Given the description of an element on the screen output the (x, y) to click on. 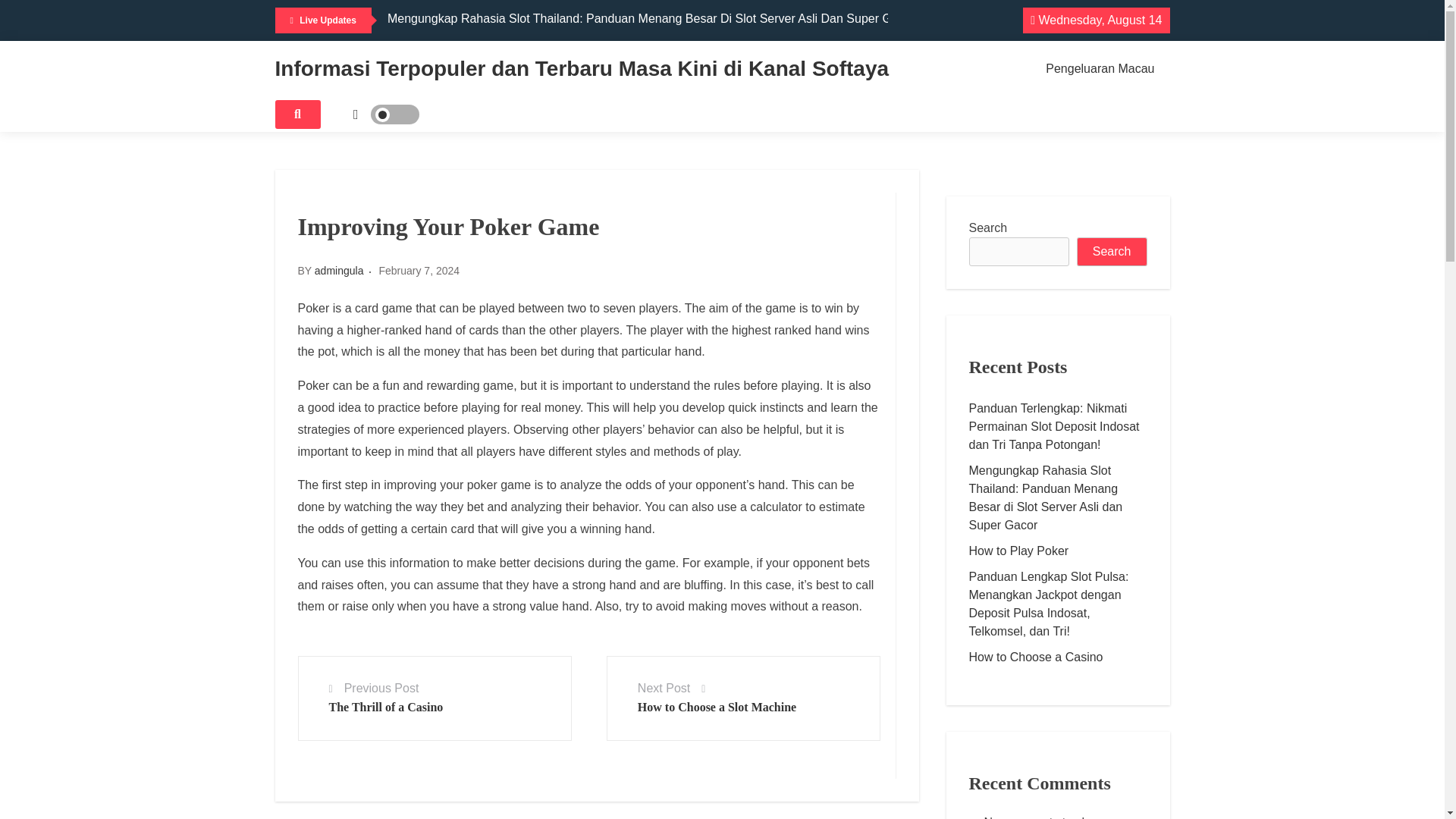
How To Play Poker (438, 39)
February 7, 2024 (419, 270)
Pengeluaran Macau (1099, 68)
How to Choose a Slot Machine (716, 707)
admingula (339, 270)
The Thrill of a Casino (386, 707)
Previous Post (381, 687)
